Given the description of an element on the screen output the (x, y) to click on. 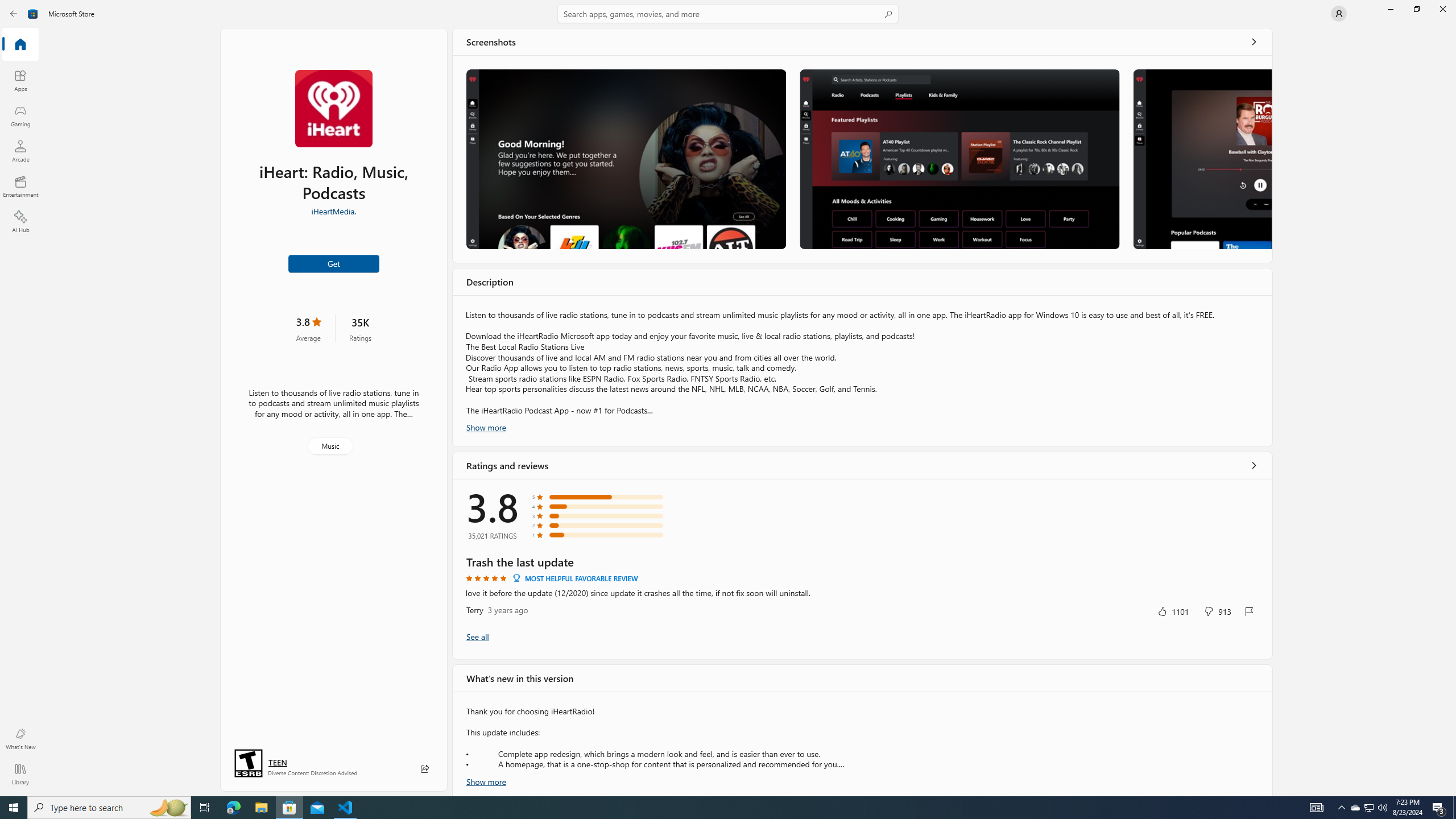
Arcade (20, 150)
iHeartMedia. (333, 210)
Show all ratings and reviews (1253, 465)
Screenshot 1 (625, 158)
Age rating: TEEN. Click for more information. (276, 762)
Library (20, 773)
Screenshot 3 (1201, 158)
Minimize Microsoft Store (1390, 9)
Report review (1248, 610)
Entertainment (20, 185)
See all (1253, 41)
Music (330, 445)
Yes, this was helpful. 1101 votes. (1173, 610)
Get (334, 263)
